Given the description of an element on the screen output the (x, y) to click on. 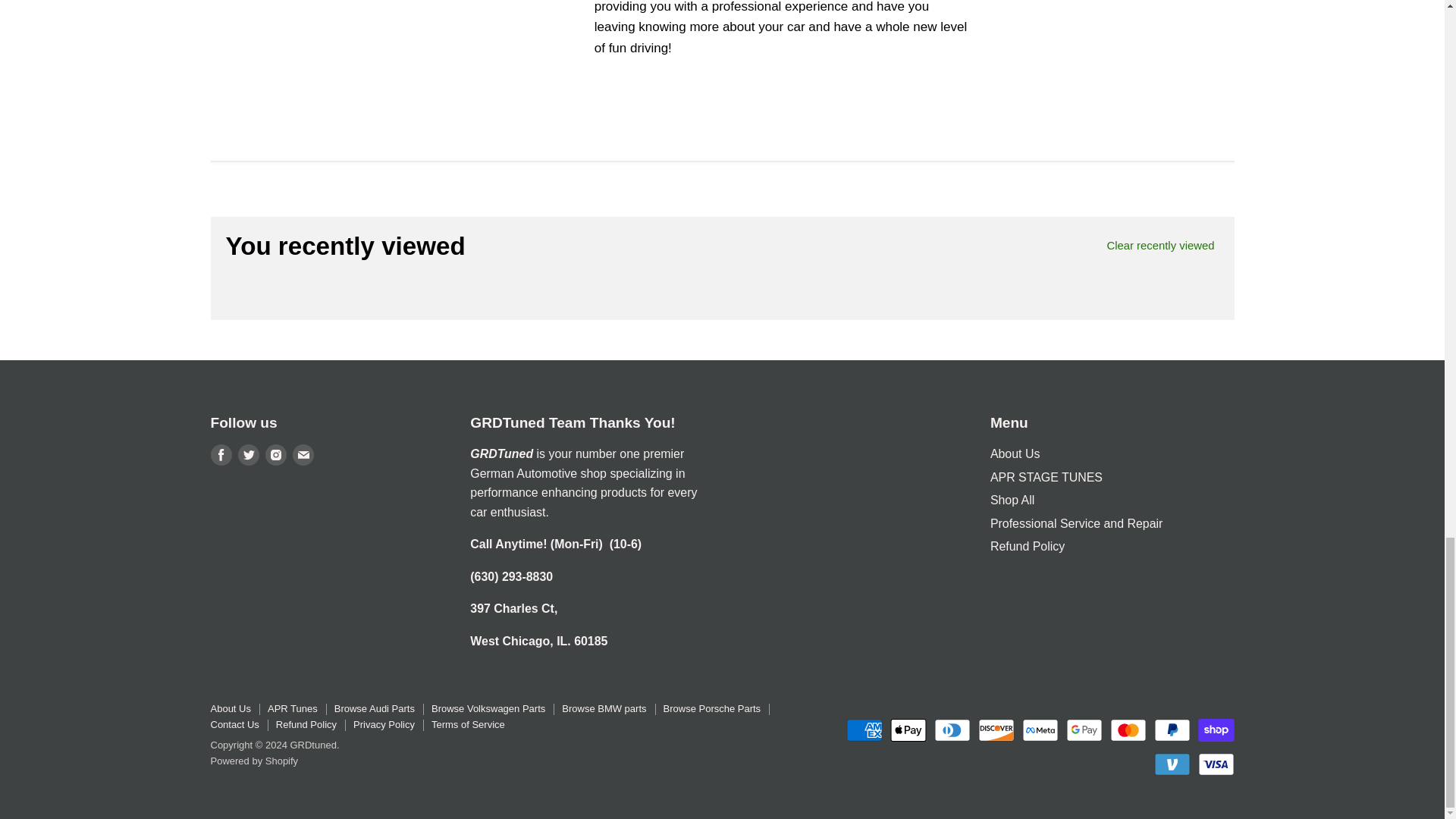
American Express (863, 730)
Facebook (221, 455)
E-mail (303, 455)
Twitter (248, 455)
Instagram (275, 455)
